Given the description of an element on the screen output the (x, y) to click on. 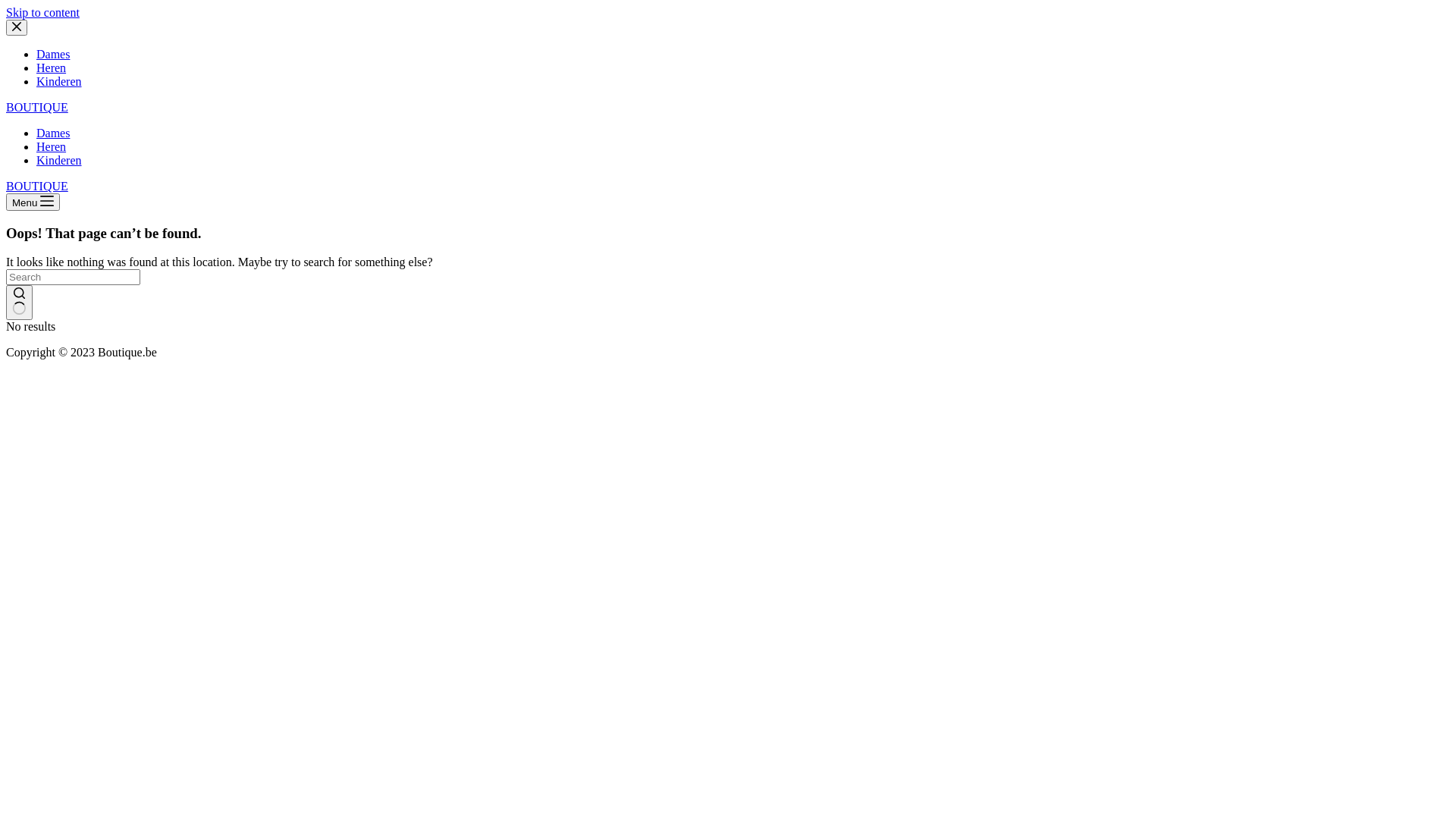
BOUTIQUE Element type: text (37, 106)
Heren Element type: text (50, 146)
Search for... Element type: hover (73, 277)
Dames Element type: text (52, 132)
Menu Element type: text (32, 201)
BOUTIQUE Element type: text (37, 185)
Skip to content Element type: text (42, 12)
Heren Element type: text (50, 67)
Kinderen Element type: text (58, 159)
Kinderen Element type: text (58, 81)
Dames Element type: text (52, 53)
